Given the description of an element on the screen output the (x, y) to click on. 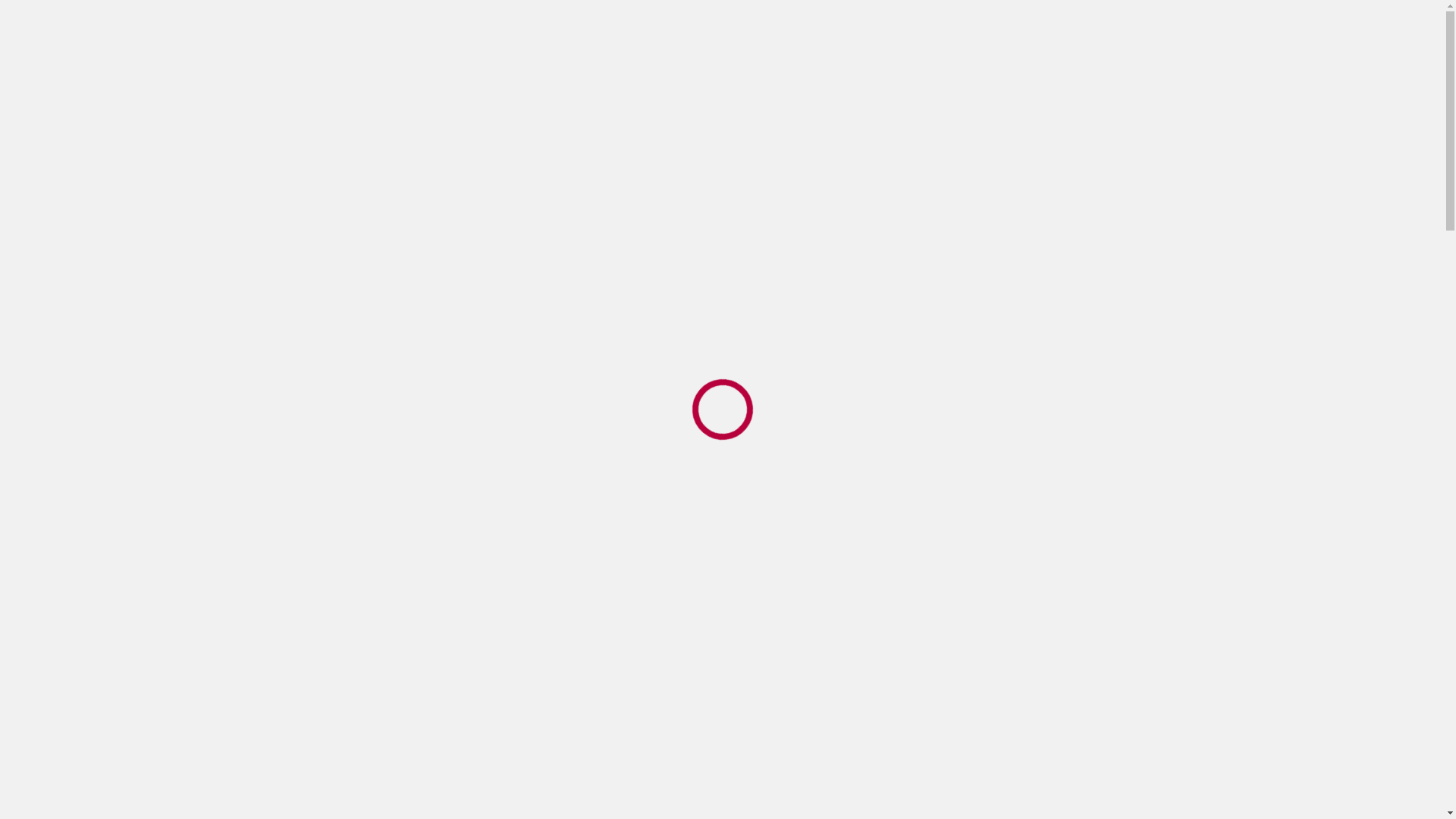
RESOURCES Element type: text (1039, 103)
AREAS OF LAW Element type: text (863, 103)
NEWS Element type: text (956, 103)
HOME Element type: text (589, 103)
OUR TEAM Element type: text (757, 103)
02 4731 5688 Element type: text (252, 23)
ABOUT US Element type: text (665, 103)
LEGAL RESOURCES Element type: text (259, 311)
HOME Element type: text (199, 311)
AN INTRODUCTION TO THE NEW PERSONAL INJURY COMMISSION Element type: text (443, 311)
GET IN TOUCH Element type: text (1148, 103)
